Given the description of an element on the screen output the (x, y) to click on. 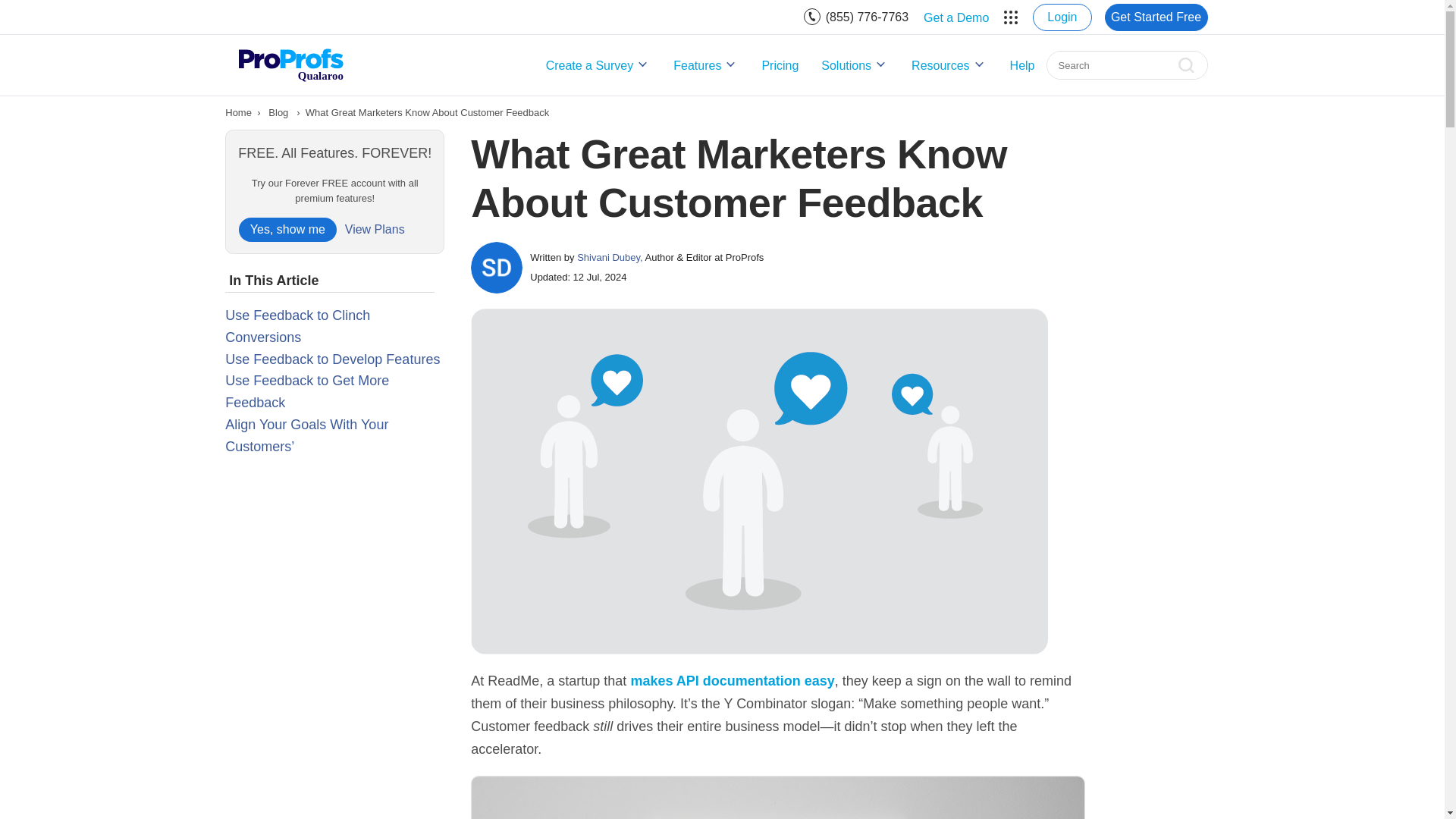
Login (1061, 16)
Get a Demo (955, 17)
Use Feedback to Get More Feedback (306, 391)
Login (1061, 16)
Use Feedback to Develop Features (332, 359)
Qualaroo (289, 64)
Get Started Free (1155, 16)
Get a Demo (955, 17)
Features (705, 65)
Solutions (854, 65)
Blog (277, 112)
Qualaroo (289, 64)
Get Started Free (1155, 16)
Home (238, 112)
Use Feedback to Clinch Conversions (297, 325)
